Given the description of an element on the screen output the (x, y) to click on. 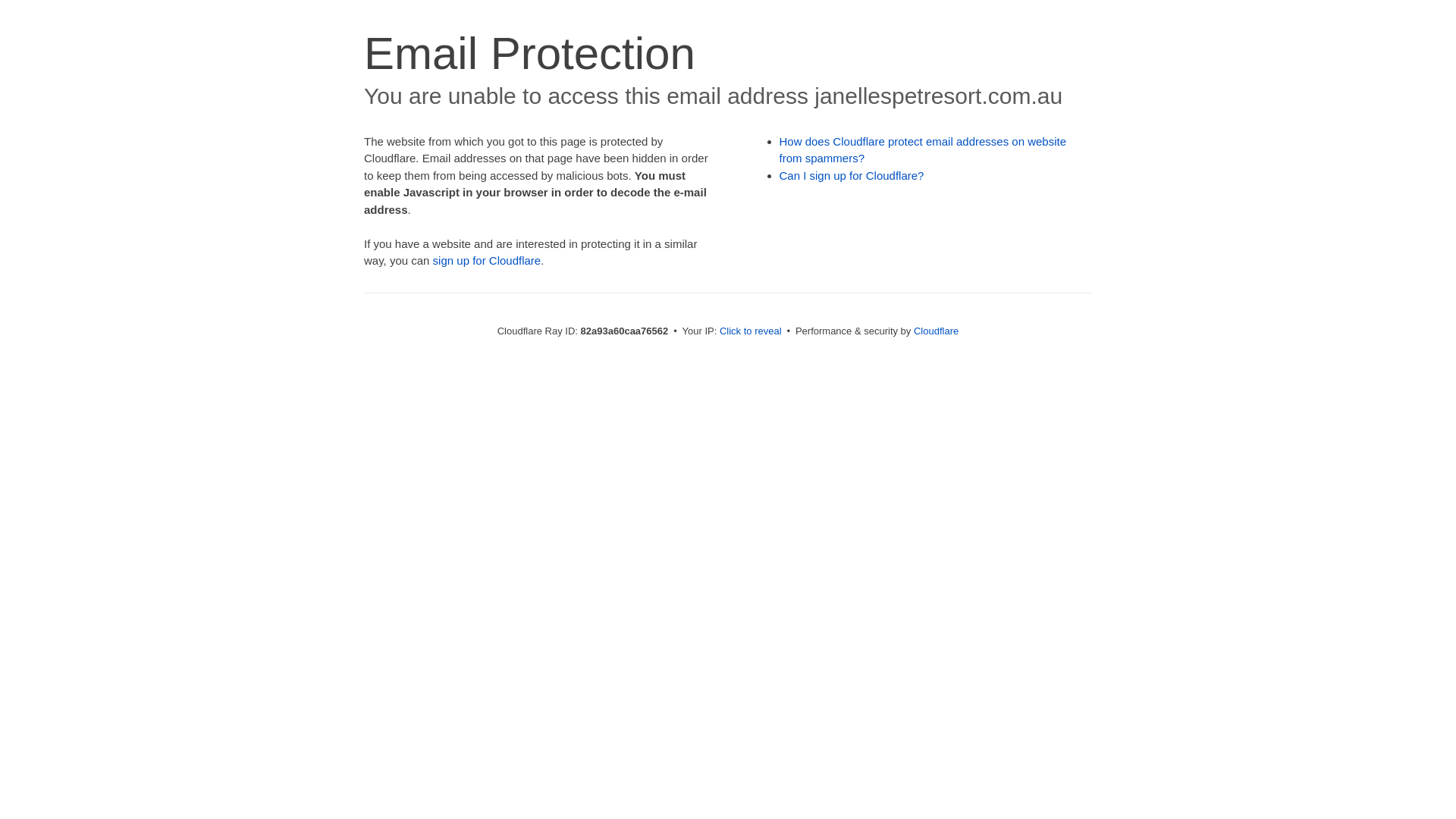
Can I sign up for Cloudflare? Element type: text (851, 175)
Cloudflare Element type: text (935, 330)
sign up for Cloudflare Element type: text (487, 260)
Click to reveal Element type: text (750, 330)
